Given the description of an element on the screen output the (x, y) to click on. 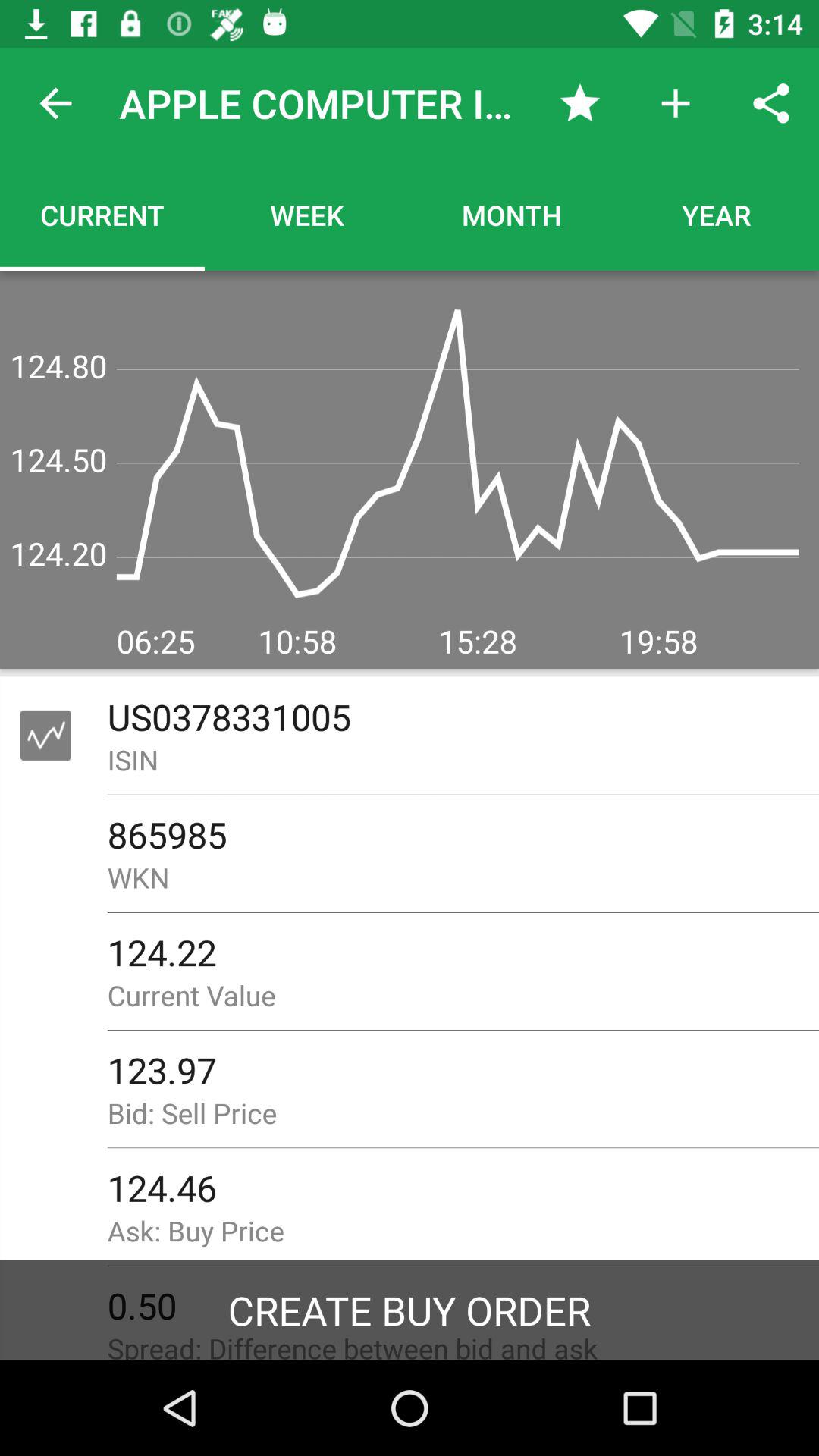
tap item next to the apple computer inc. (55, 103)
